Given the description of an element on the screen output the (x, y) to click on. 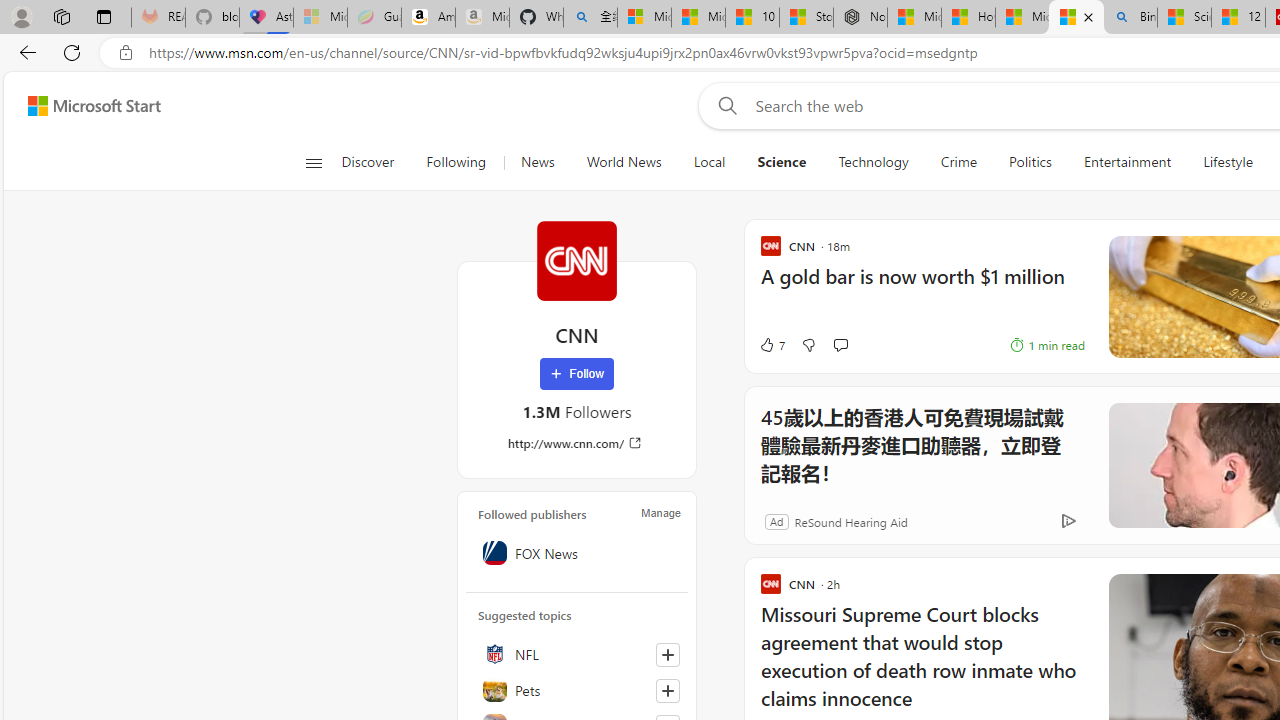
12 Popular Science Lies that Must be Corrected (1238, 17)
Asthma Inhalers: Names and Types (266, 17)
Follow this topic (667, 690)
FOX News (577, 552)
